Given the description of an element on the screen output the (x, y) to click on. 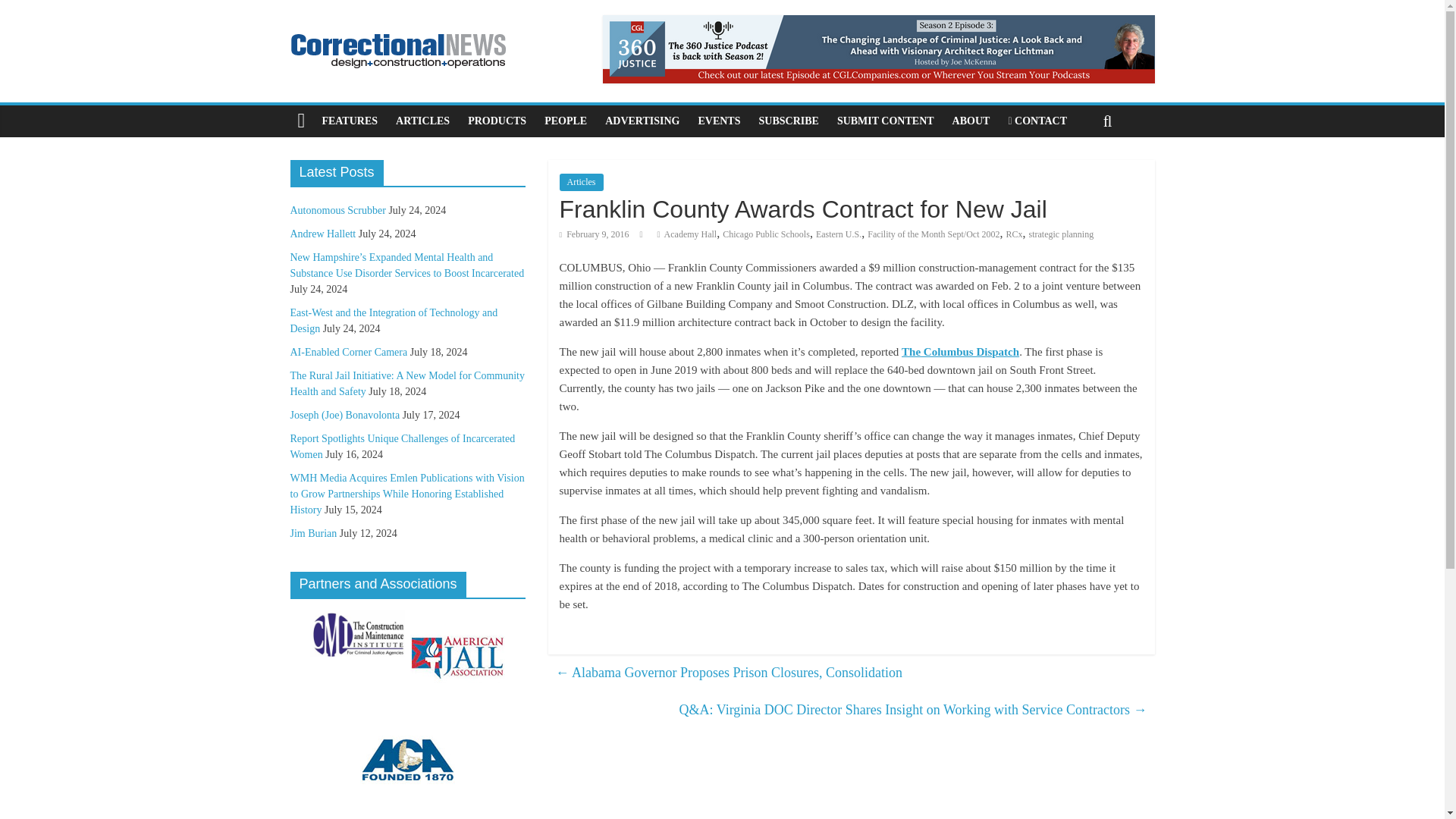
strategic planning (1061, 234)
ABOUT (970, 121)
Jim Burian (312, 532)
PRODUCTS (496, 121)
FEATURES (350, 121)
February 9, 2016 (593, 234)
Report Spotlights Unique Challenges of Incarcerated Women (402, 446)
Autonomous Scrubber (337, 210)
11:54 pm (593, 234)
The Columbus Dispatch (960, 351)
Andrew Hallett (322, 233)
AI-Enabled Corner Camera (348, 351)
SUBSCRIBE (788, 121)
CONTACT (1036, 121)
